Given the description of an element on the screen output the (x, y) to click on. 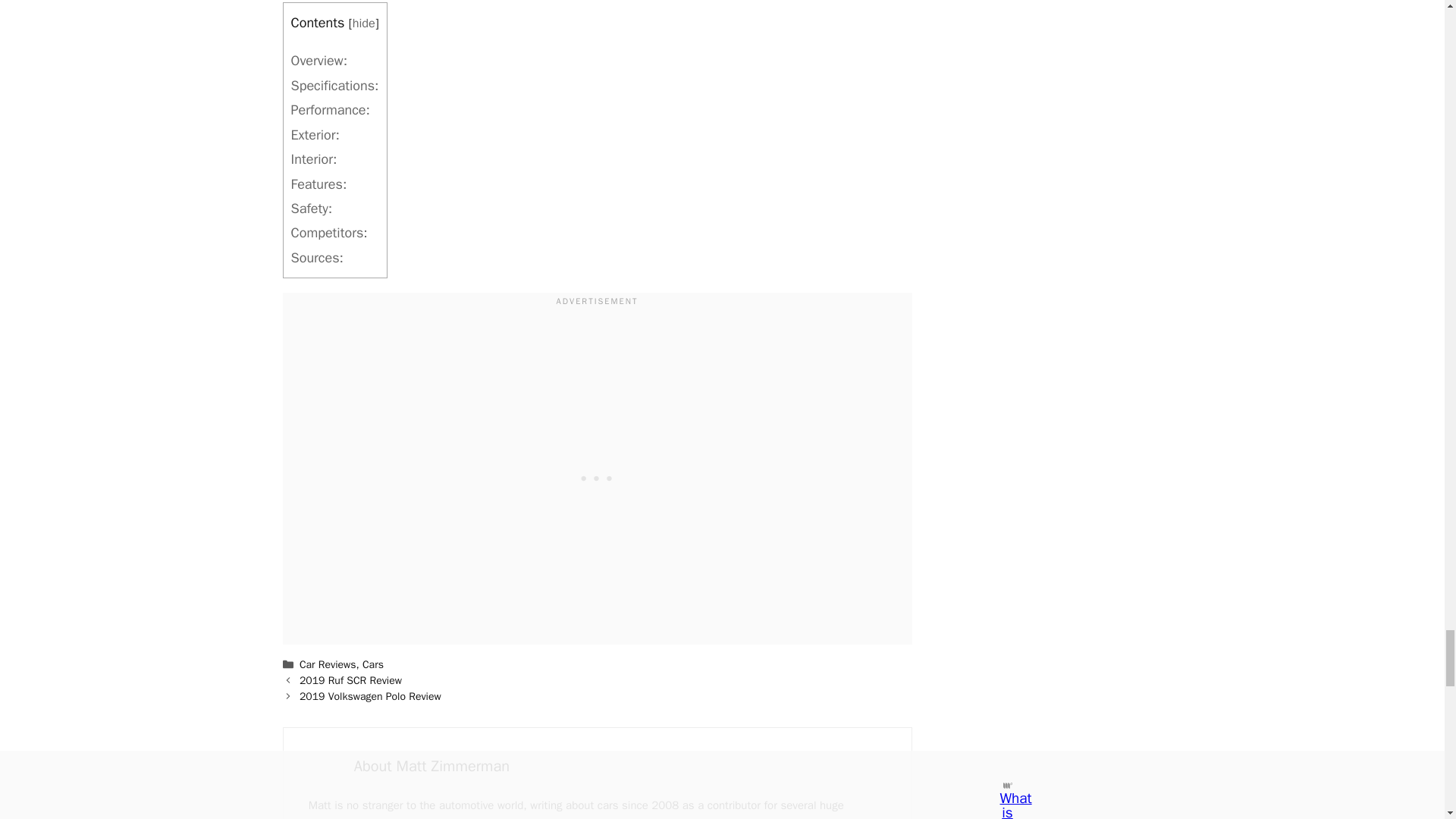
Read more (431, 765)
